Given the description of an element on the screen output the (x, y) to click on. 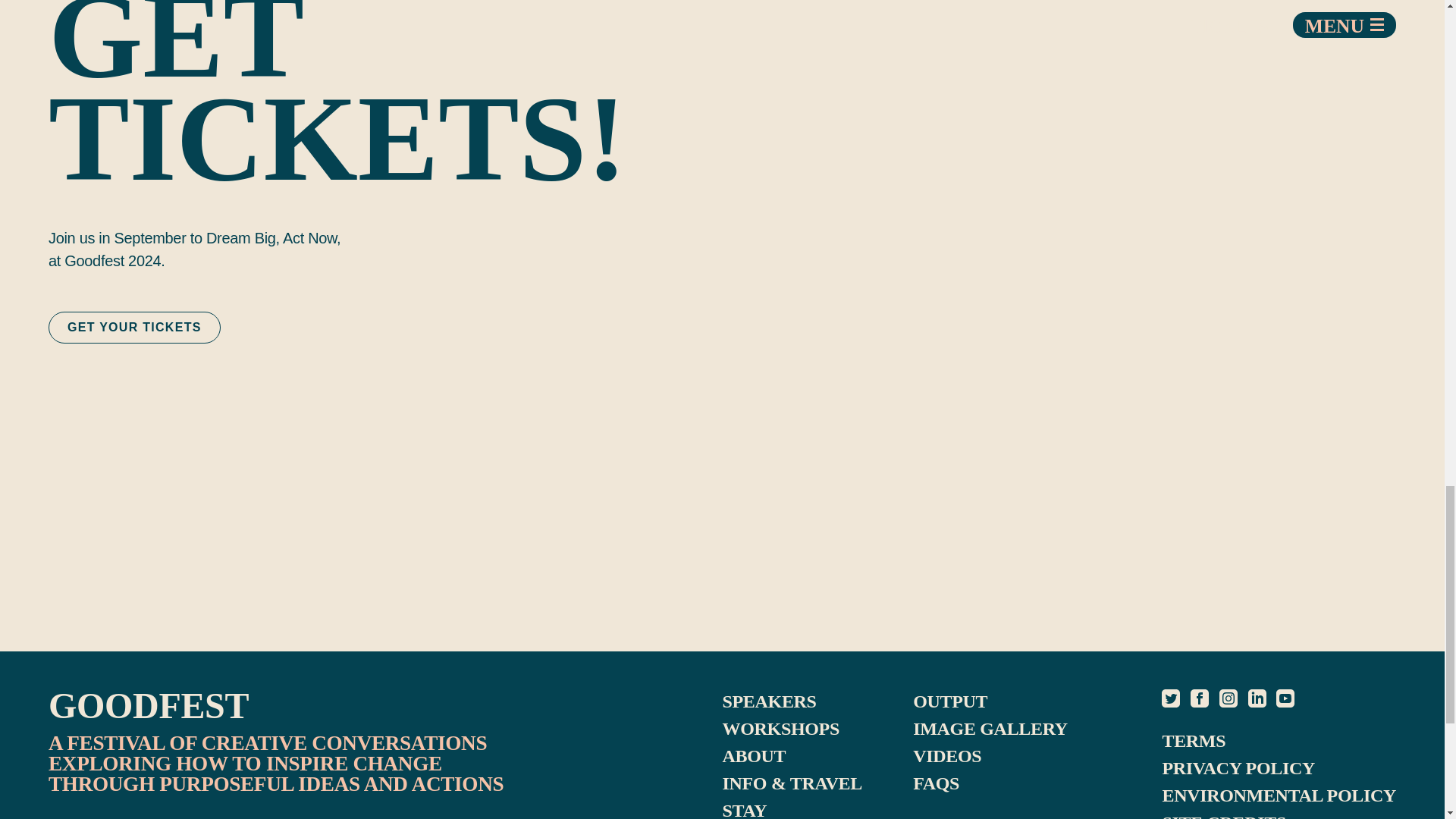
VIDEOS (946, 755)
SPEAKERS (768, 701)
GET YOUR TICKETS (134, 327)
IMAGE GALLERY (989, 728)
TERMS (1193, 741)
FAQS (935, 783)
ABOUT (754, 755)
STAY (744, 809)
PRIVACY POLICY (1237, 768)
WORKSHOPS (780, 728)
